Given the description of an element on the screen output the (x, y) to click on. 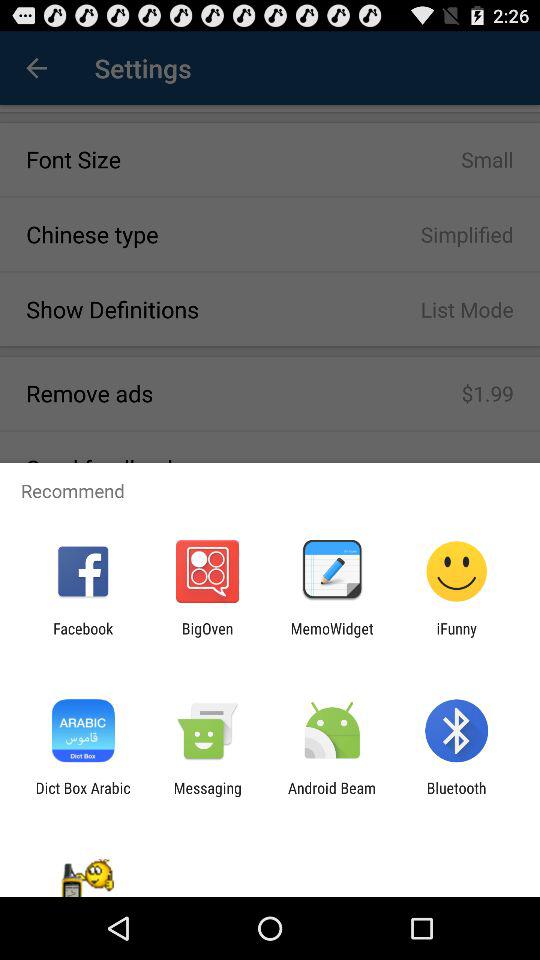
click icon next to facebook icon (207, 637)
